Given the description of an element on the screen output the (x, y) to click on. 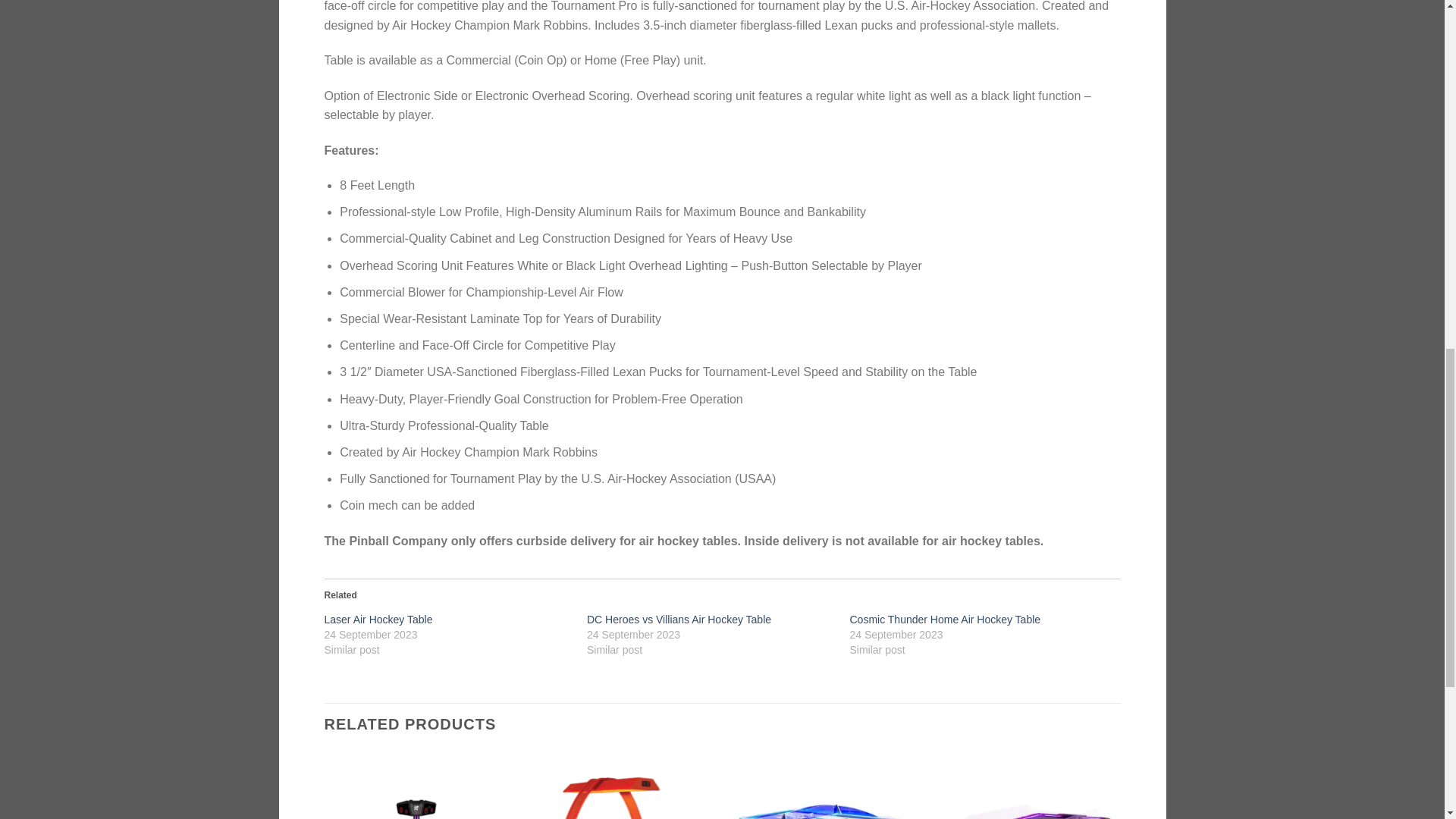
DC Heroes vs Villians Air Hockey Table (678, 619)
Laser Air Hockey Table (378, 619)
